Given the description of an element on the screen output the (x, y) to click on. 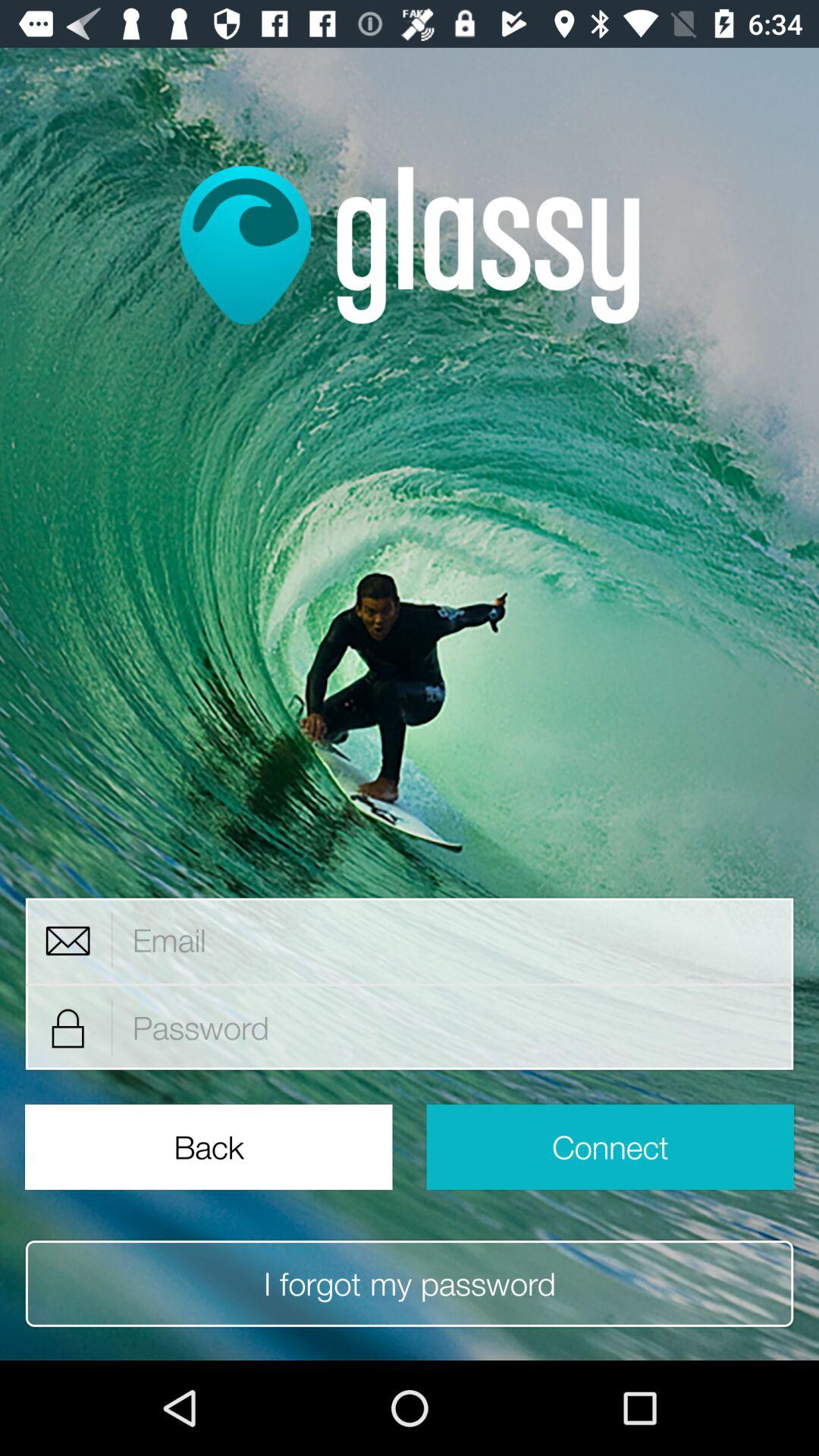
flip until the i forgot my icon (409, 1283)
